Given the description of an element on the screen output the (x, y) to click on. 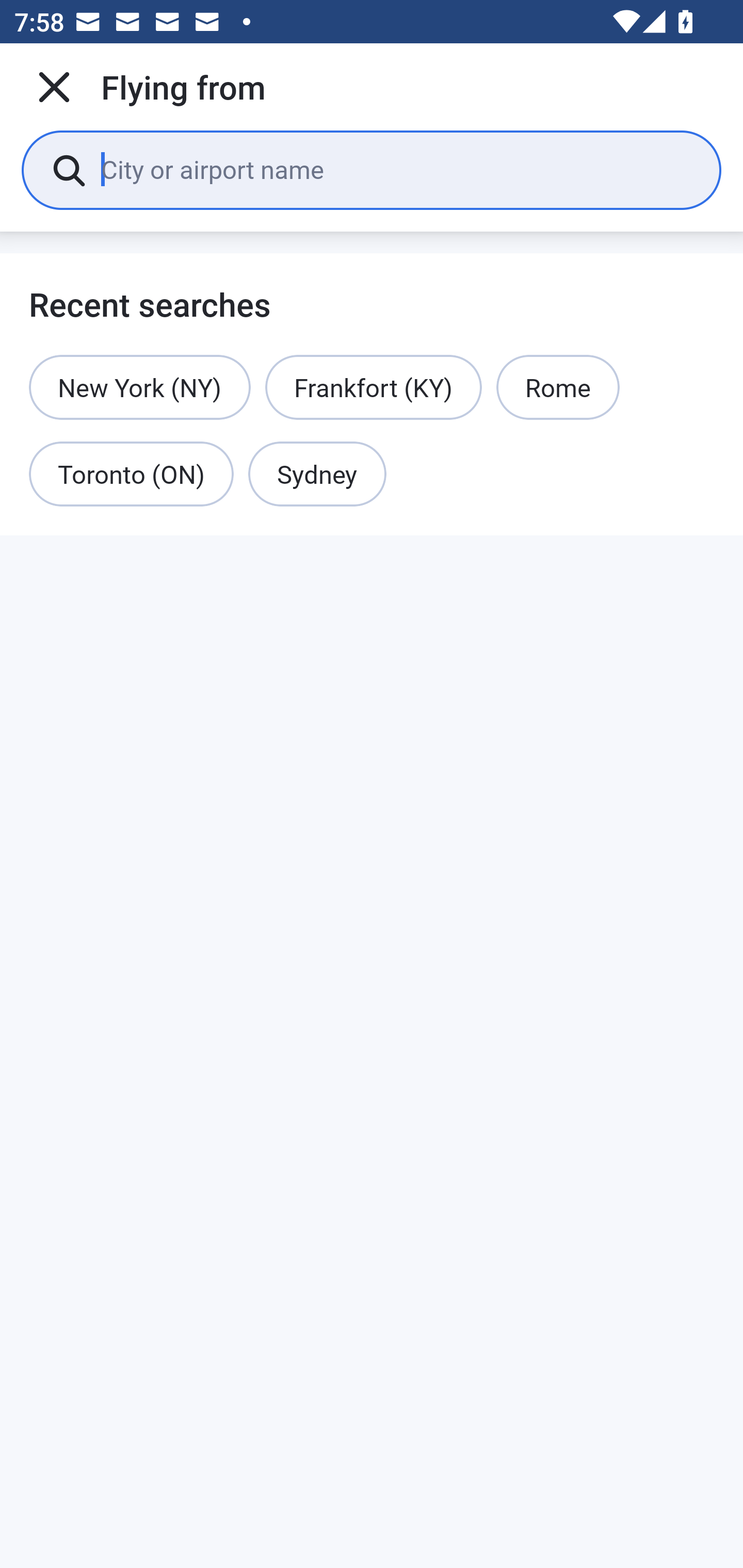
City or airport name (396, 169)
New York (NY) (139, 387)
Frankfort (KY) (373, 387)
Rome (557, 387)
Toronto (ON) (131, 474)
Sydney (317, 474)
